Given the description of an element on the screen output the (x, y) to click on. 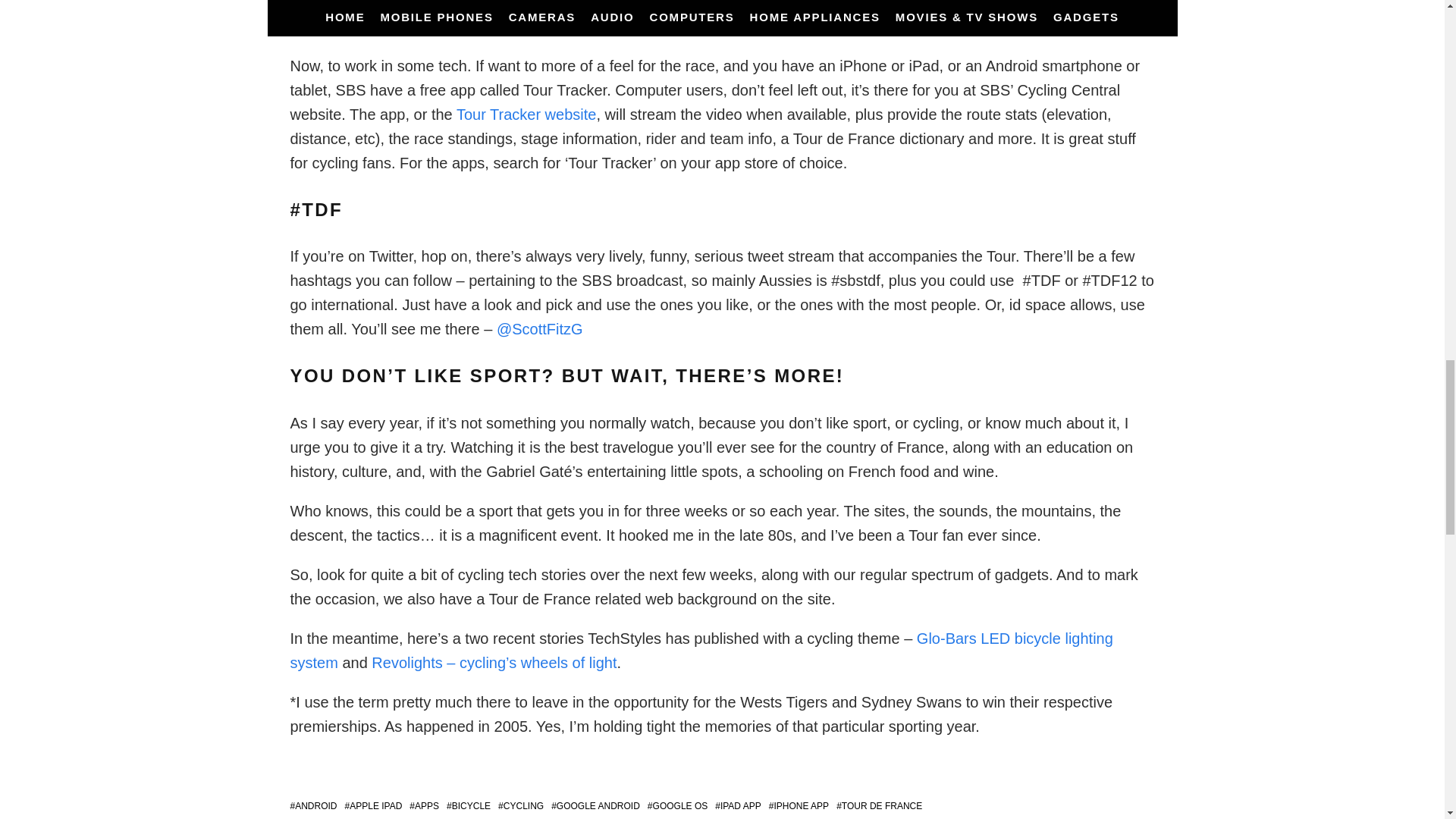
Scott Fitzgerald's Twitter account (539, 329)
Glo-Bars LED bicycle lighting system (700, 649)
Tour de France Tour Tracker website (526, 114)
